Given the description of an element on the screen output the (x, y) to click on. 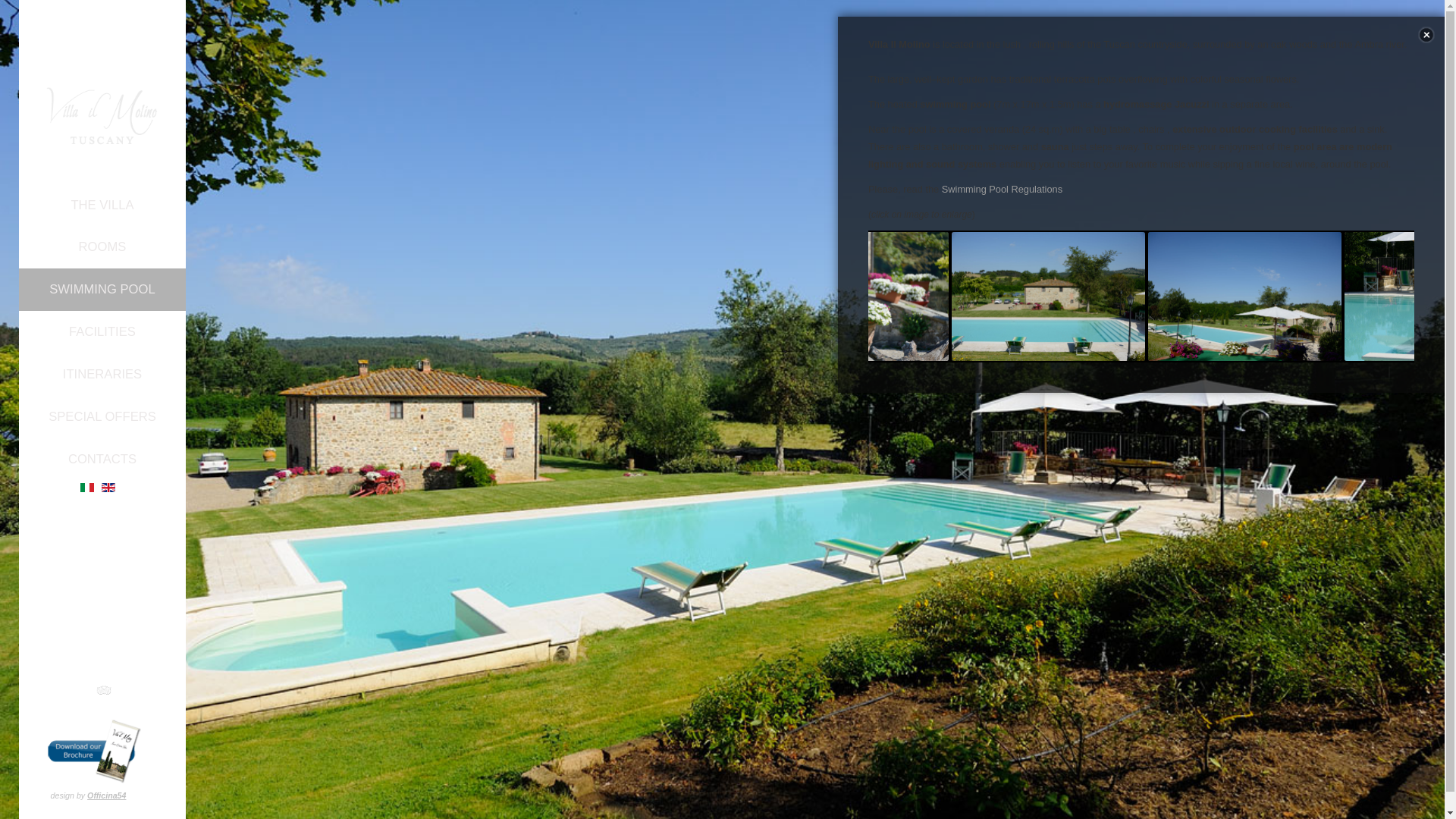
SPECIAL OFFERS (102, 416)
Officina54 (106, 795)
ITINERARIES (102, 373)
ROOMS (102, 247)
CONTACTS (102, 459)
FACILITIES (102, 331)
Swimming Pool Regulations (1002, 188)
Facebook (72, 690)
SWIMMING POOL (102, 289)
THE VILLA (102, 204)
